Given the description of an element on the screen output the (x, y) to click on. 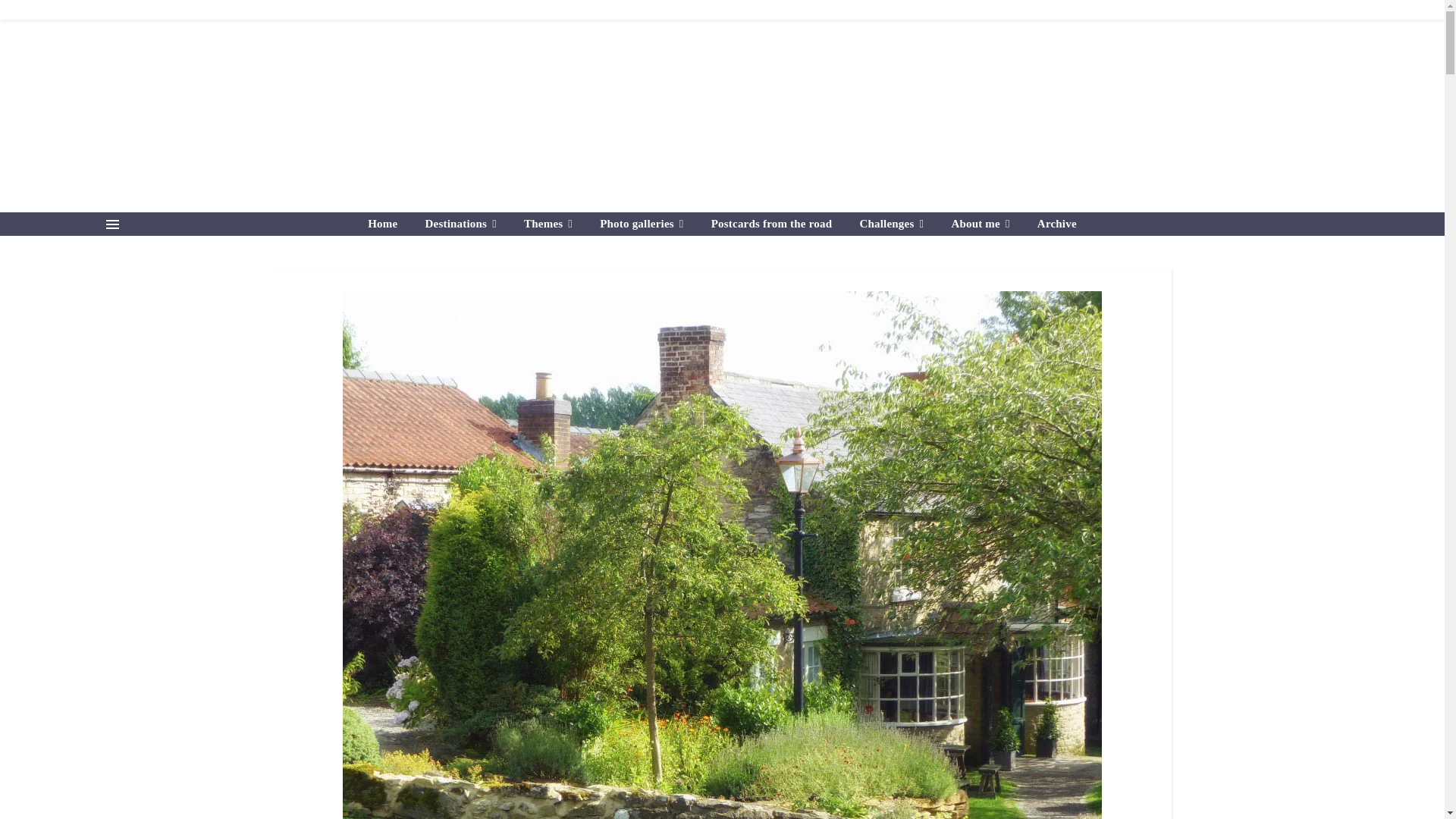
Travel with me (722, 128)
Home (388, 223)
Destinations (460, 223)
